Given the description of an element on the screen output the (x, y) to click on. 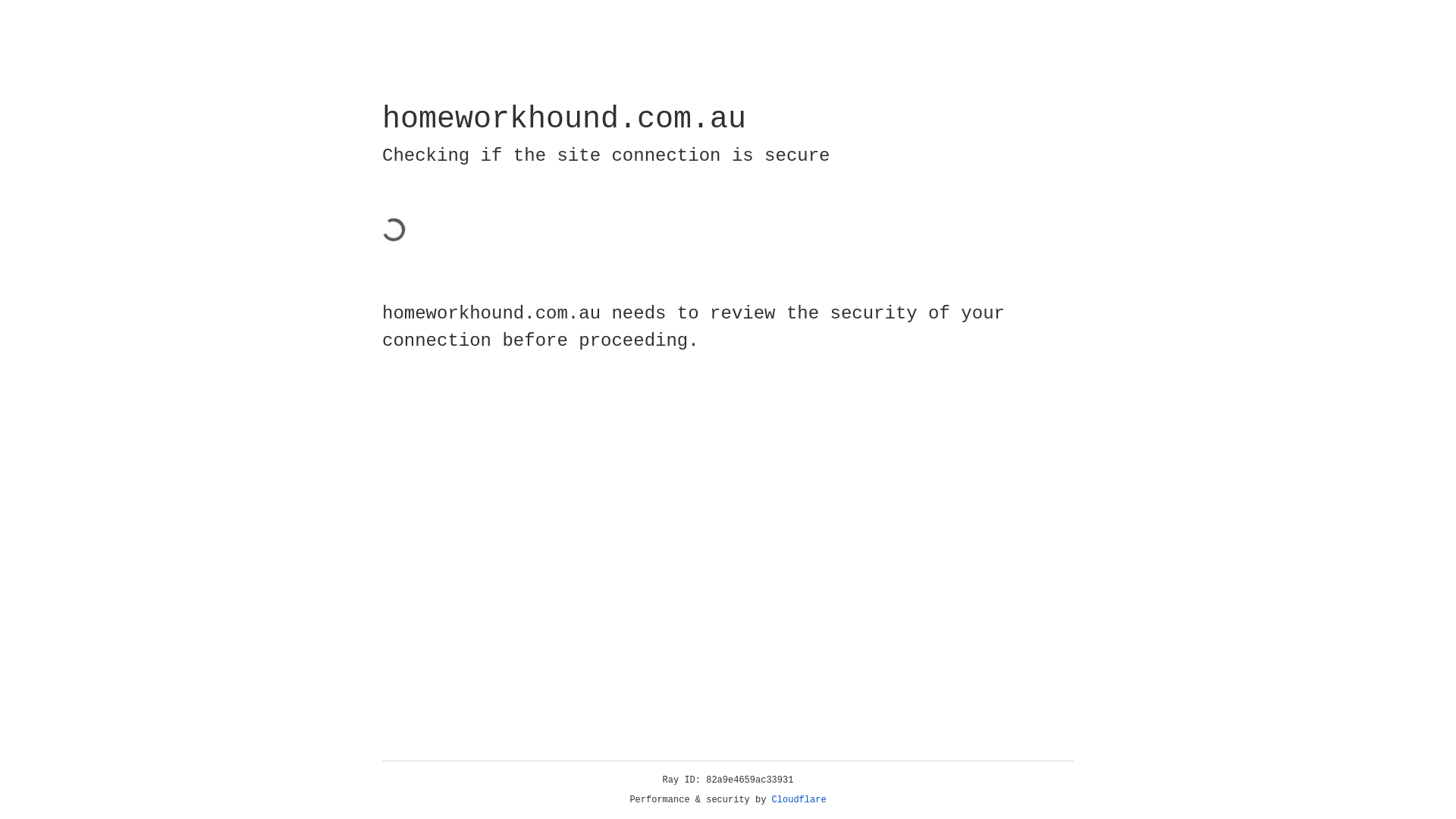
Cloudflare Element type: text (798, 799)
